Given the description of an element on the screen output the (x, y) to click on. 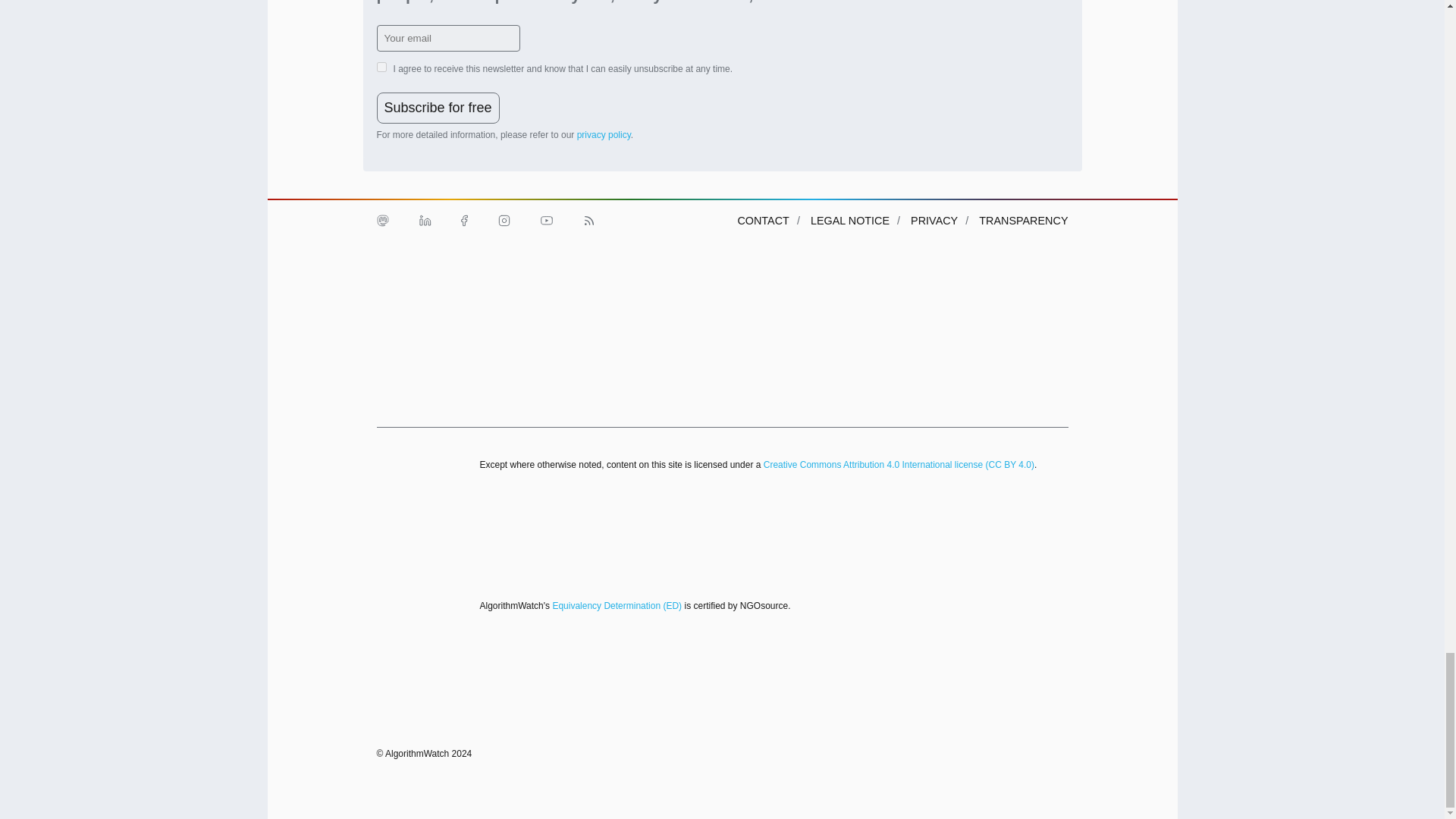
Instagram (502, 220)
Alfred Landecker Foundation (410, 288)
Youtube (545, 220)
on (380, 67)
LinkedIn (424, 220)
RSS Feed (588, 220)
